Given the description of an element on the screen output the (x, y) to click on. 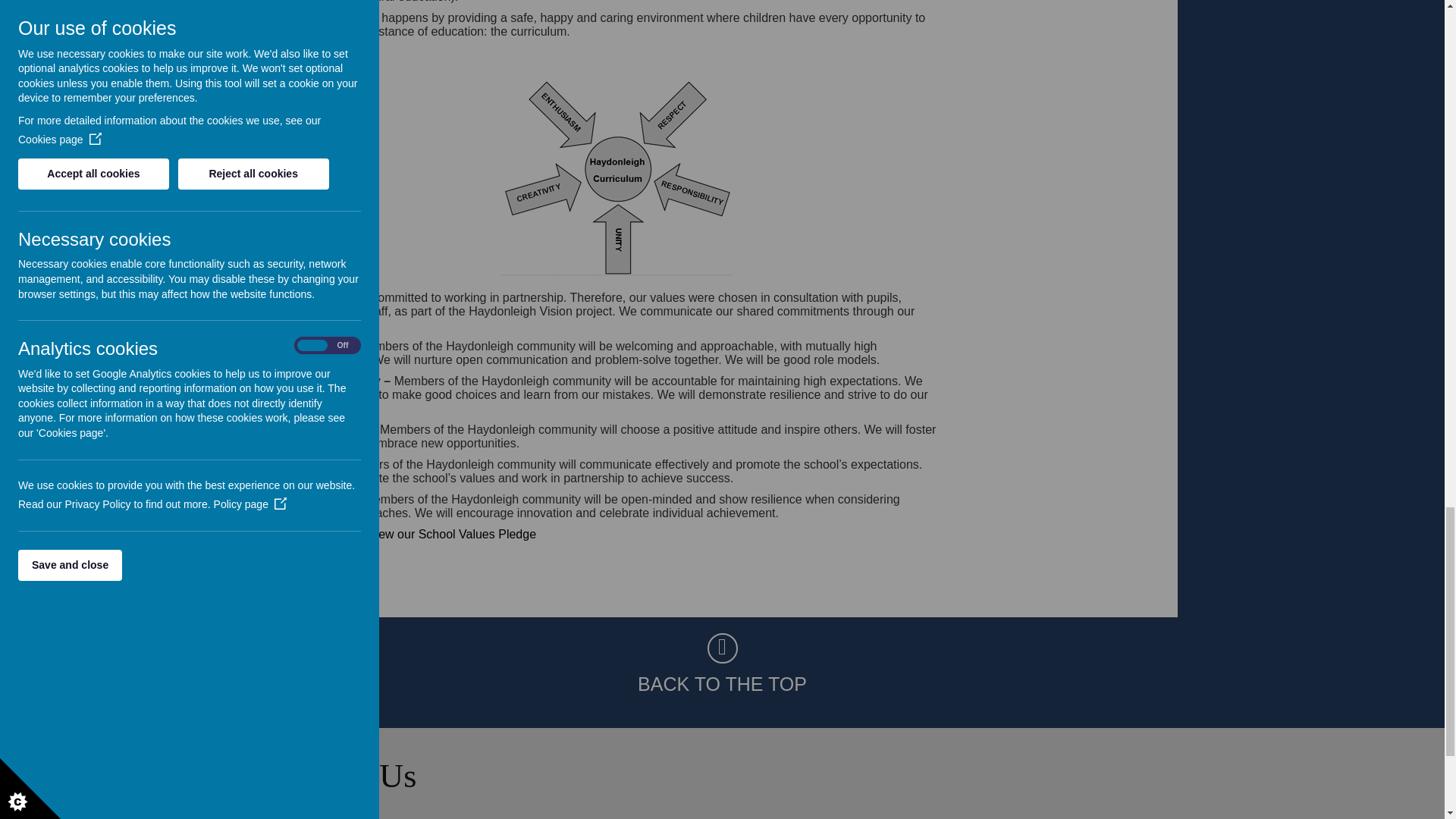
Click here to view our School Values Pledge (416, 533)
